Given the description of an element on the screen output the (x, y) to click on. 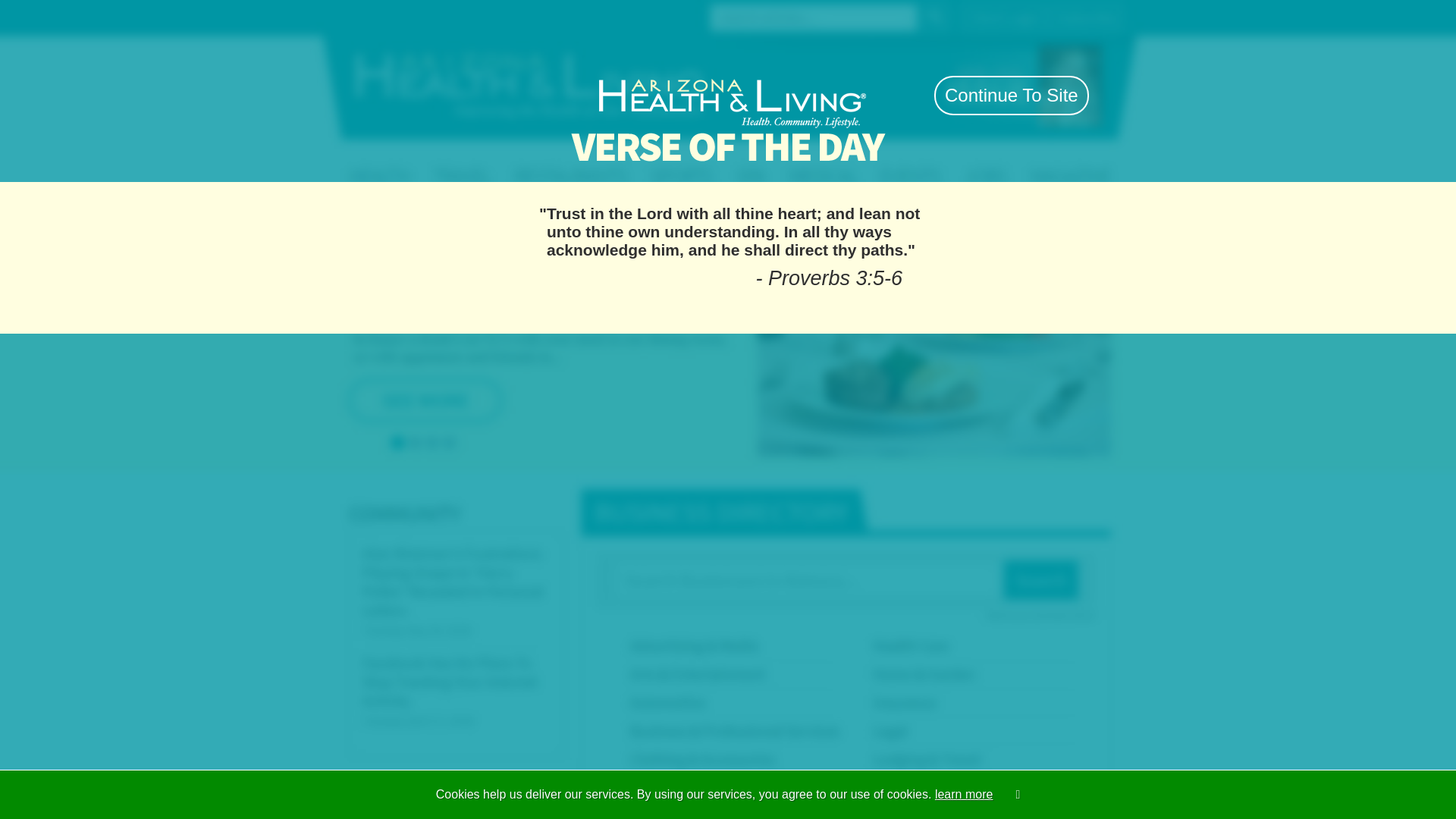
Contact Us (442, 16)
View Trending Stories (780, 205)
subscribe (878, 93)
close (899, 56)
BLOG (1101, 160)
view issue (975, 93)
FOOD (771, 160)
Join Community (965, 16)
Home (396, 16)
